Given the description of an element on the screen output the (x, y) to click on. 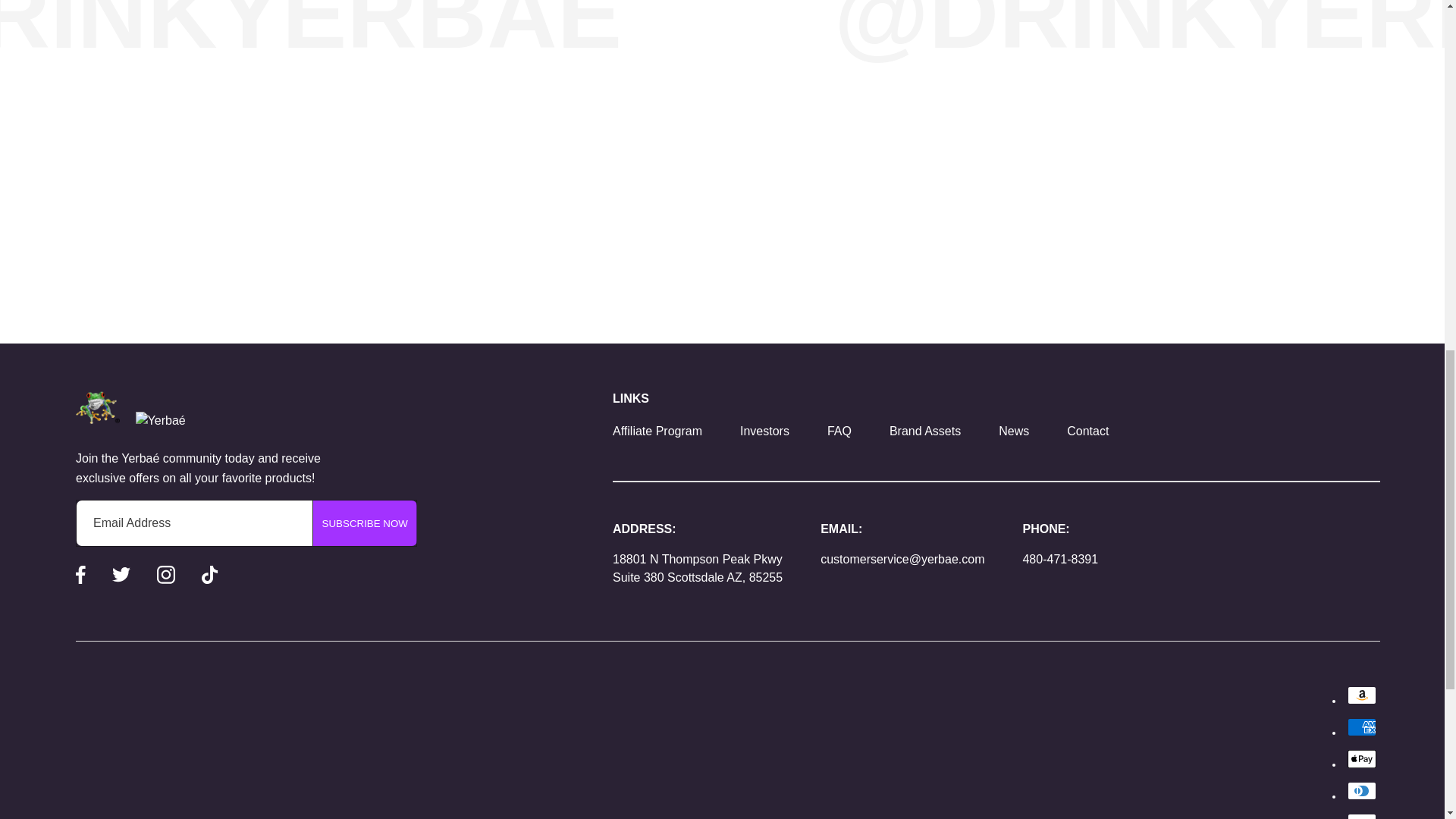
Contact (1087, 431)
Investors (764, 431)
Affiliate Program (656, 431)
Diners Club (1361, 791)
SUBSCRIBE NOW (364, 523)
Discover (1361, 816)
American Express (1361, 727)
Apple Pay (1361, 759)
Brand Assets (924, 431)
News (1013, 431)
